Given the description of an element on the screen output the (x, y) to click on. 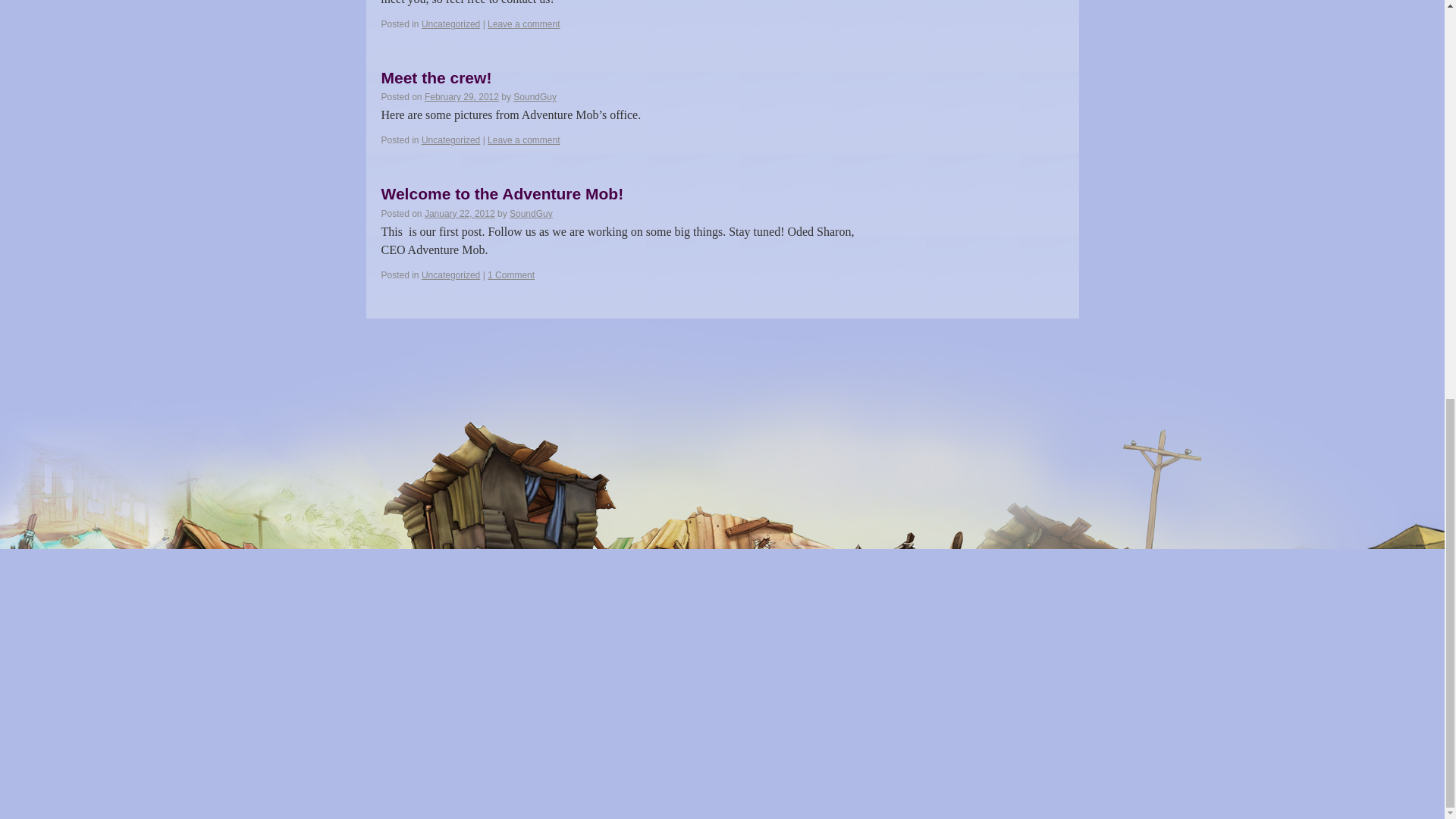
SoundGuy (534, 96)
Uncategorized (451, 140)
February 29, 2012 (462, 96)
Permalink to Meet the crew! (436, 77)
12:12 am (462, 96)
Uncategorized (451, 23)
Meet the crew! (436, 77)
Leave a comment (523, 23)
